Given the description of an element on the screen output the (x, y) to click on. 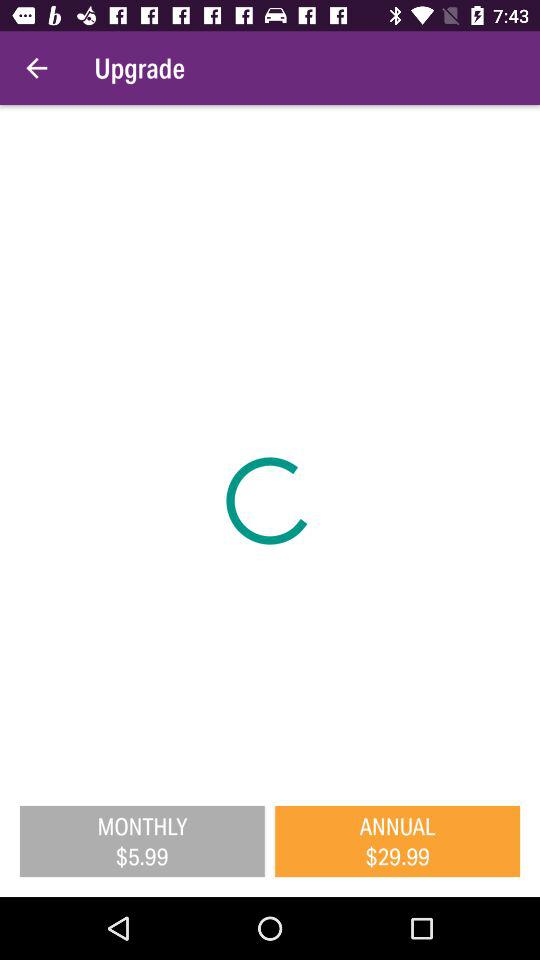
tap item to the left of upgrade (36, 68)
